Given the description of an element on the screen output the (x, y) to click on. 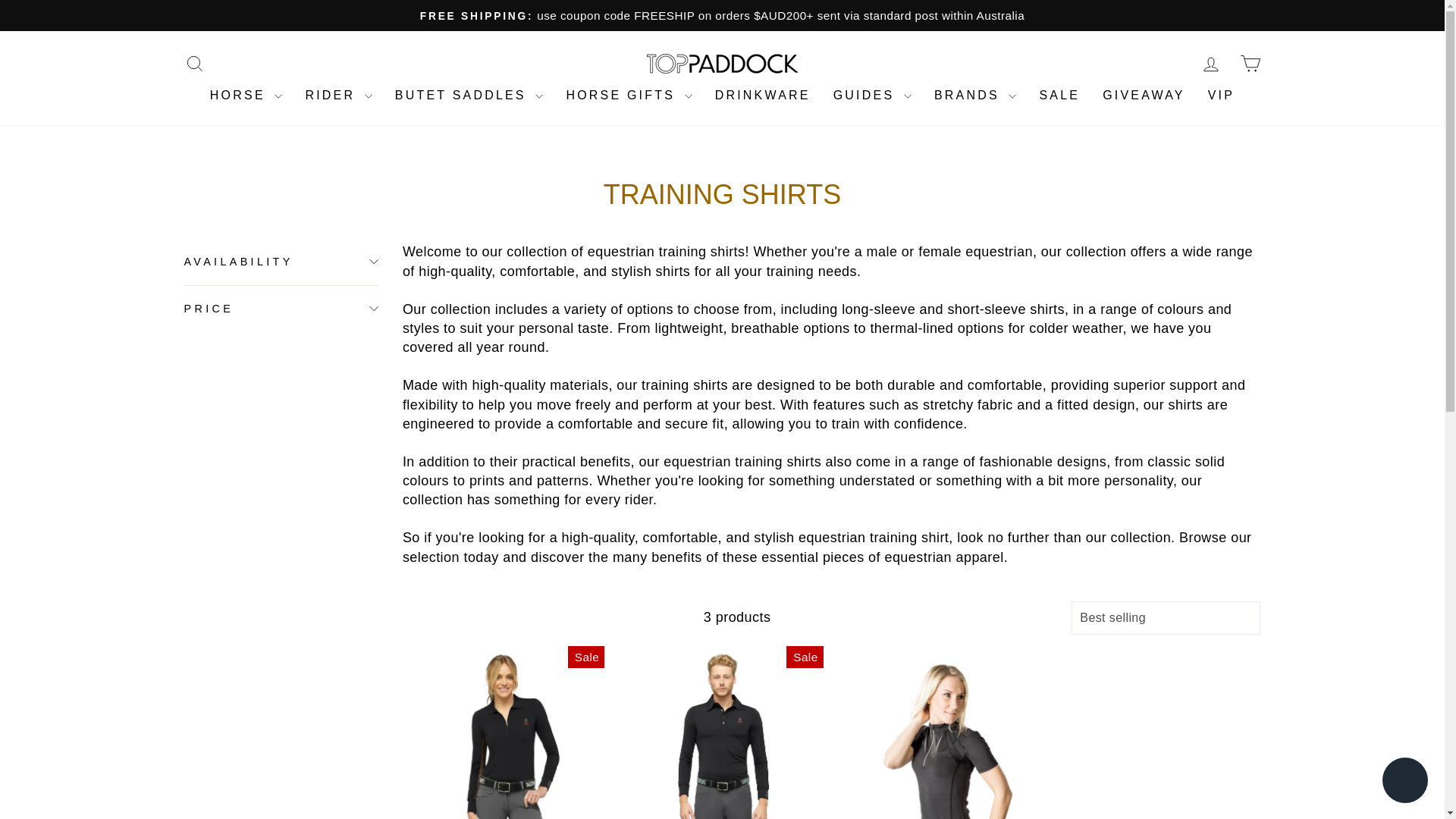
Shopify online store chat (1404, 781)
ICON-SEARCH (194, 63)
ACCOUNT (1210, 64)
